Given the description of an element on the screen output the (x, y) to click on. 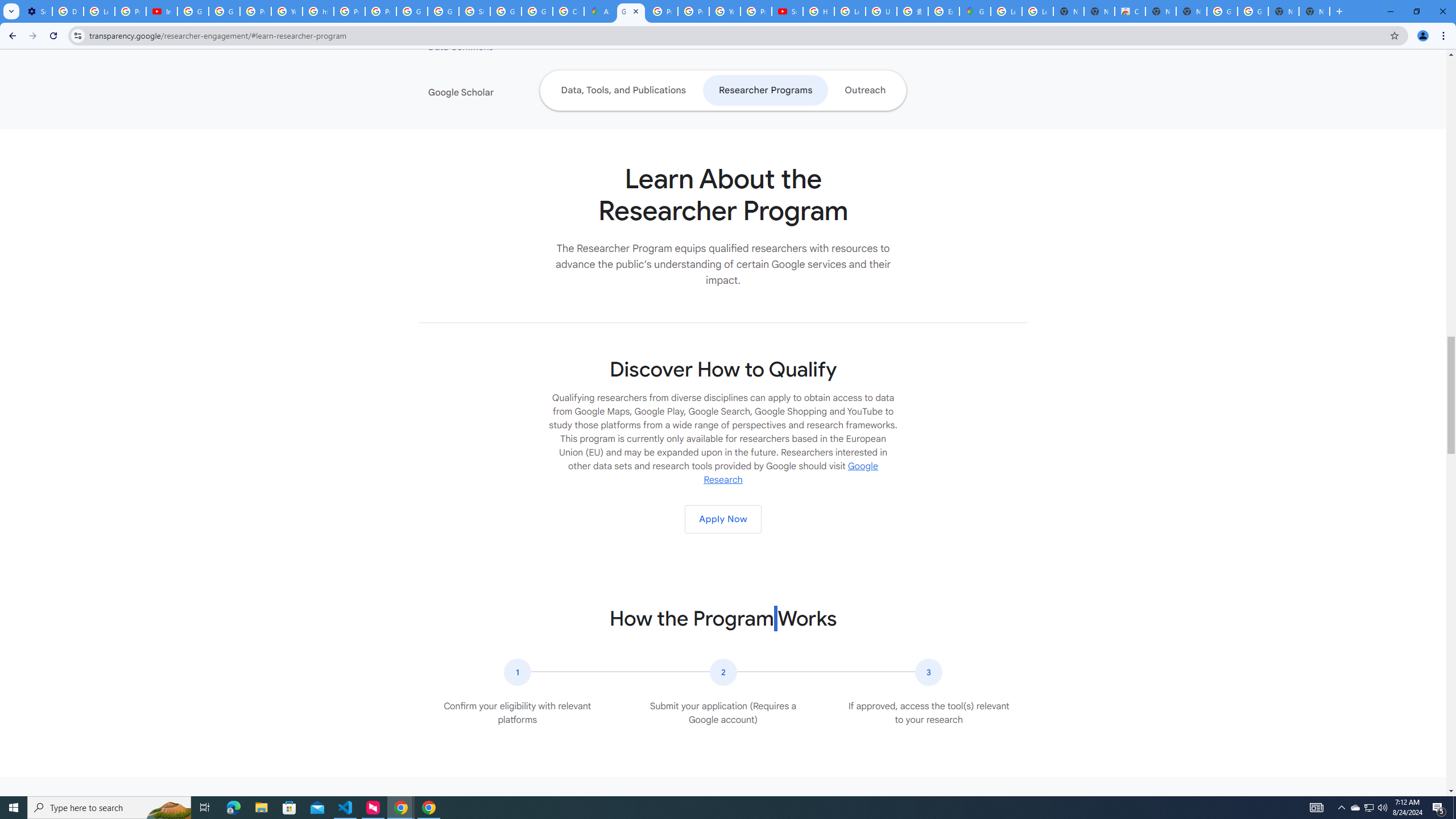
The number one in a circular icon. (517, 672)
Privacy Help Center - Policies Help (693, 11)
YouTube (286, 11)
https://scholar.google.com/ (318, 11)
YouTube (724, 11)
Data, Tools, and Publications (622, 90)
Sign in - Google Accounts (474, 11)
Subscriptions - YouTube (787, 11)
Google Researcher Engagement - Transparency Center (631, 11)
